Given the description of an element on the screen output the (x, y) to click on. 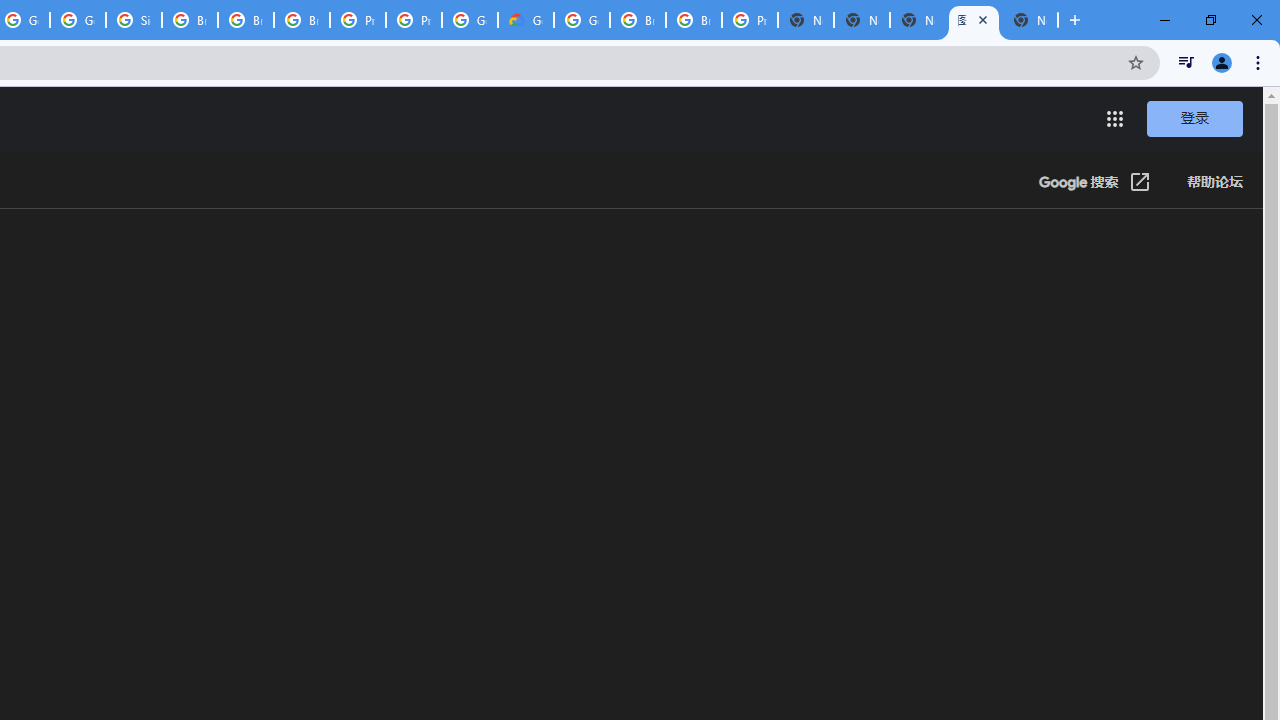
New Tab (1030, 20)
New Tab (806, 20)
Sign in - Google Accounts (134, 20)
Browse Chrome as a guest - Computer - Google Chrome Help (245, 20)
Google Cloud Platform (469, 20)
Browse Chrome as a guest - Computer - Google Chrome Help (693, 20)
Google Cloud Estimate Summary (525, 20)
Browse Chrome as a guest - Computer - Google Chrome Help (637, 20)
